Given the description of an element on the screen output the (x, y) to click on. 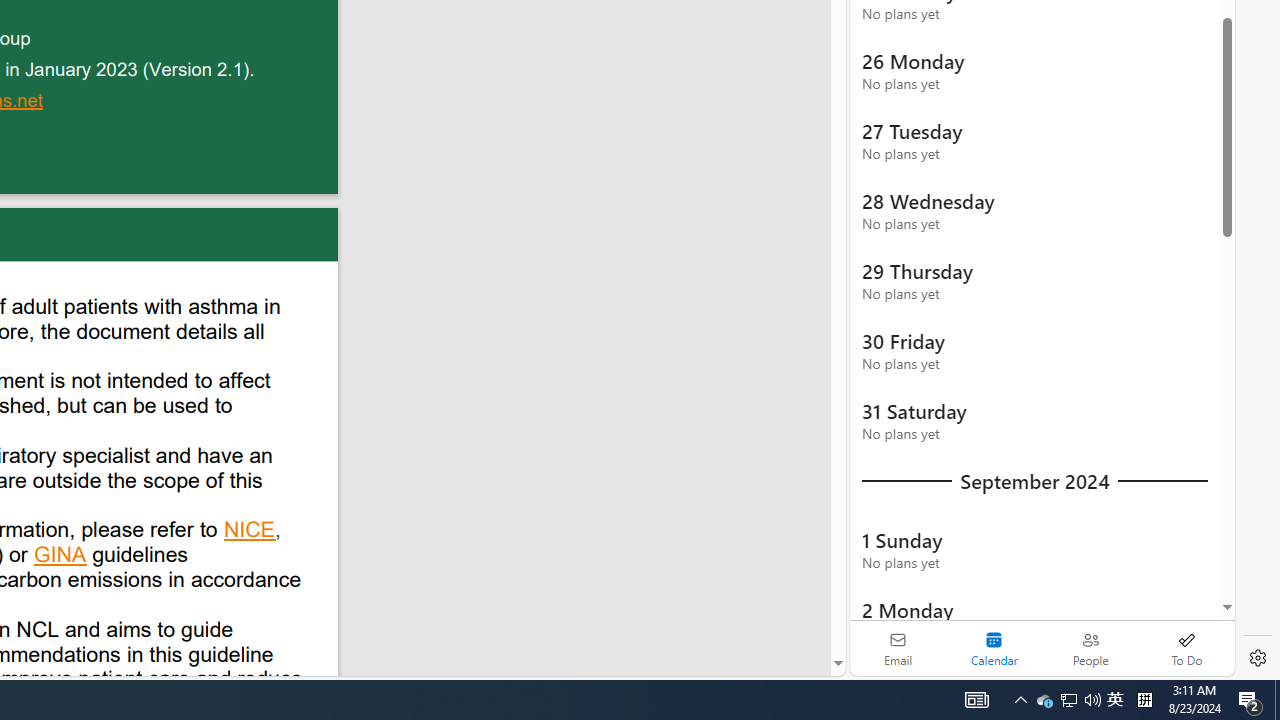
People (1090, 648)
GINA  (61, 557)
NICE (250, 532)
To Do (1186, 648)
Selected calendar module. Date today is 22 (994, 648)
Email (898, 648)
